Given the description of an element on the screen output the (x, y) to click on. 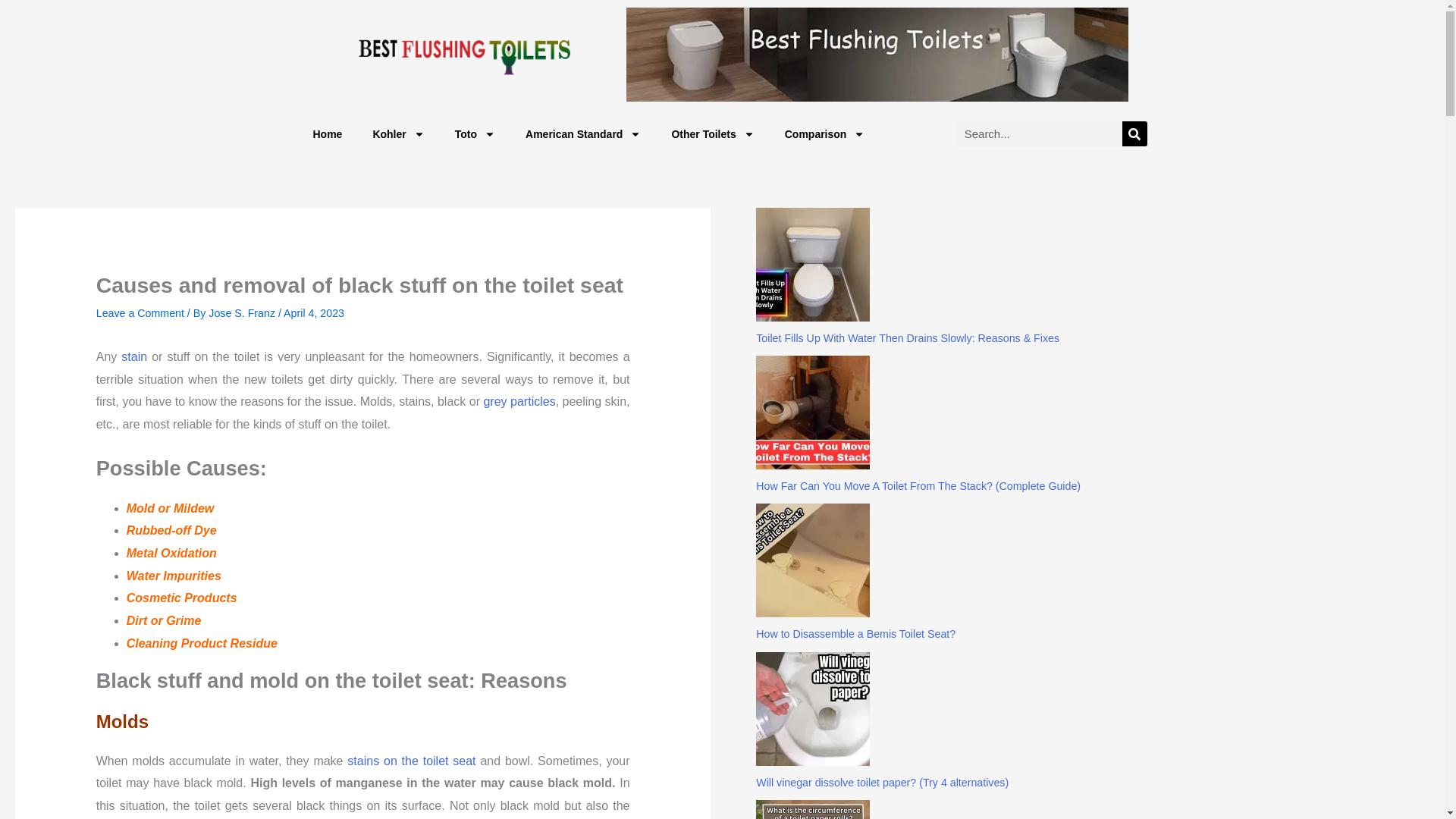
Toto (475, 134)
View all posts by Jose S. Franz (243, 313)
American Standard (583, 134)
Home (326, 134)
best-flushing-toilets-logo (463, 54)
Kohler (397, 134)
